Given the description of an element on the screen output the (x, y) to click on. 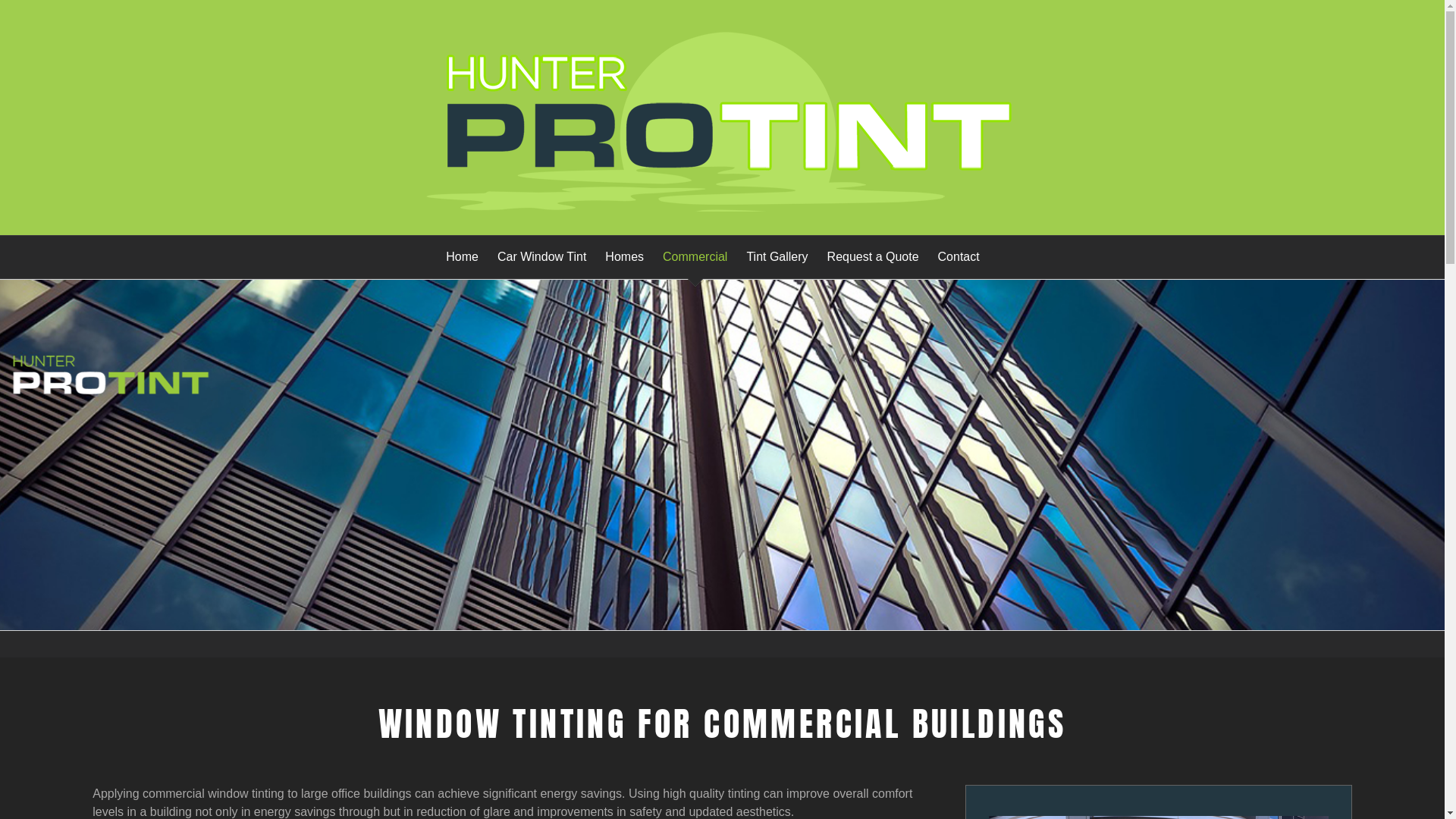
Home Element type: text (461, 256)
Car Window Tint Element type: text (541, 256)
Commercial Element type: text (694, 256)
Request a Quote Element type: text (873, 256)
Homes Element type: text (624, 256)
Tint Gallery Element type: text (776, 256)
Contact Element type: text (958, 256)
